Given the description of an element on the screen output the (x, y) to click on. 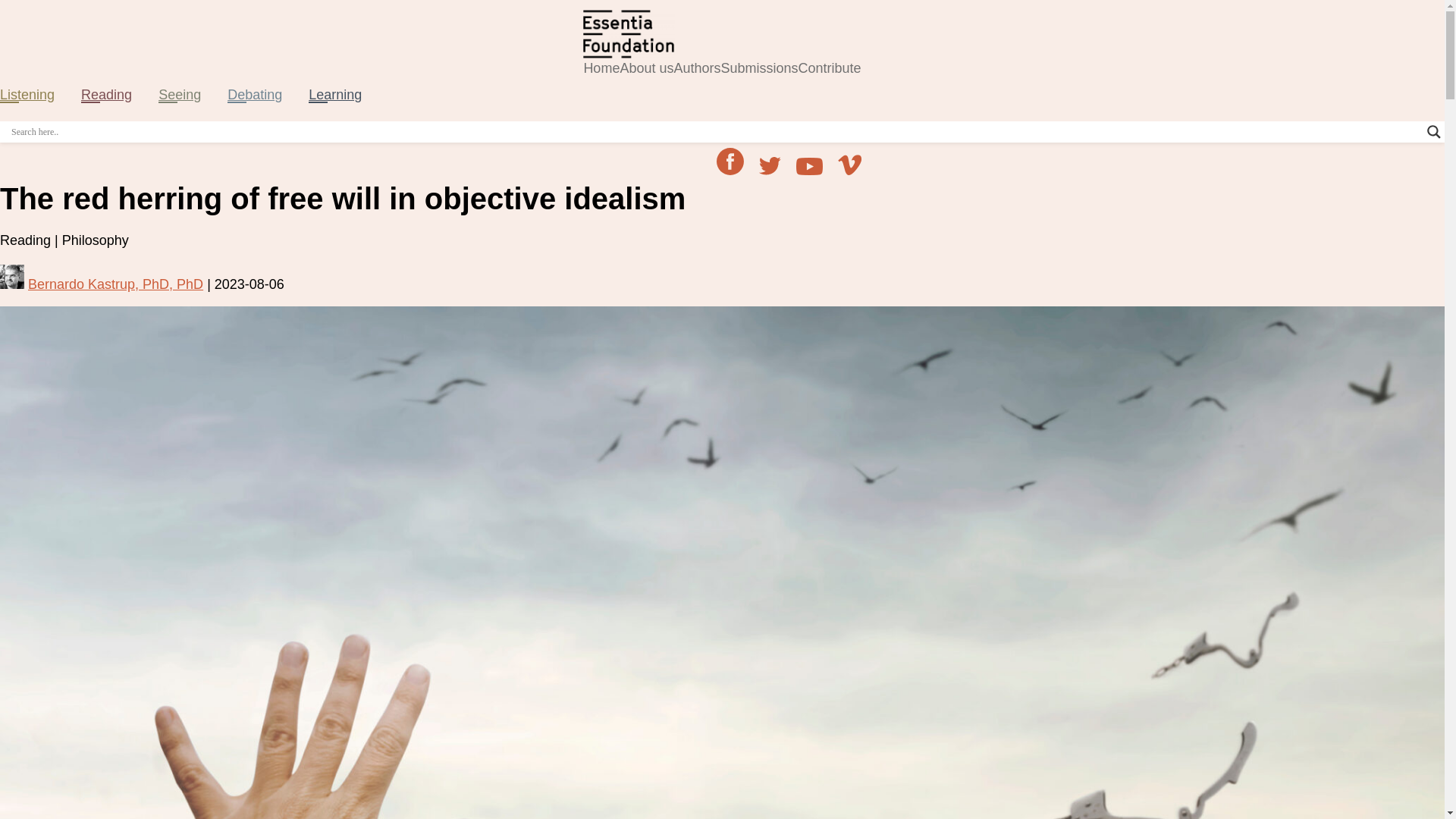
Seeing (179, 94)
Submissions (758, 68)
Contribute (829, 68)
Learning (334, 94)
Reading (106, 94)
Listening (27, 94)
Bernardo Kastrup, PhD, PhD (101, 283)
Debating (254, 94)
